Given the description of an element on the screen output the (x, y) to click on. 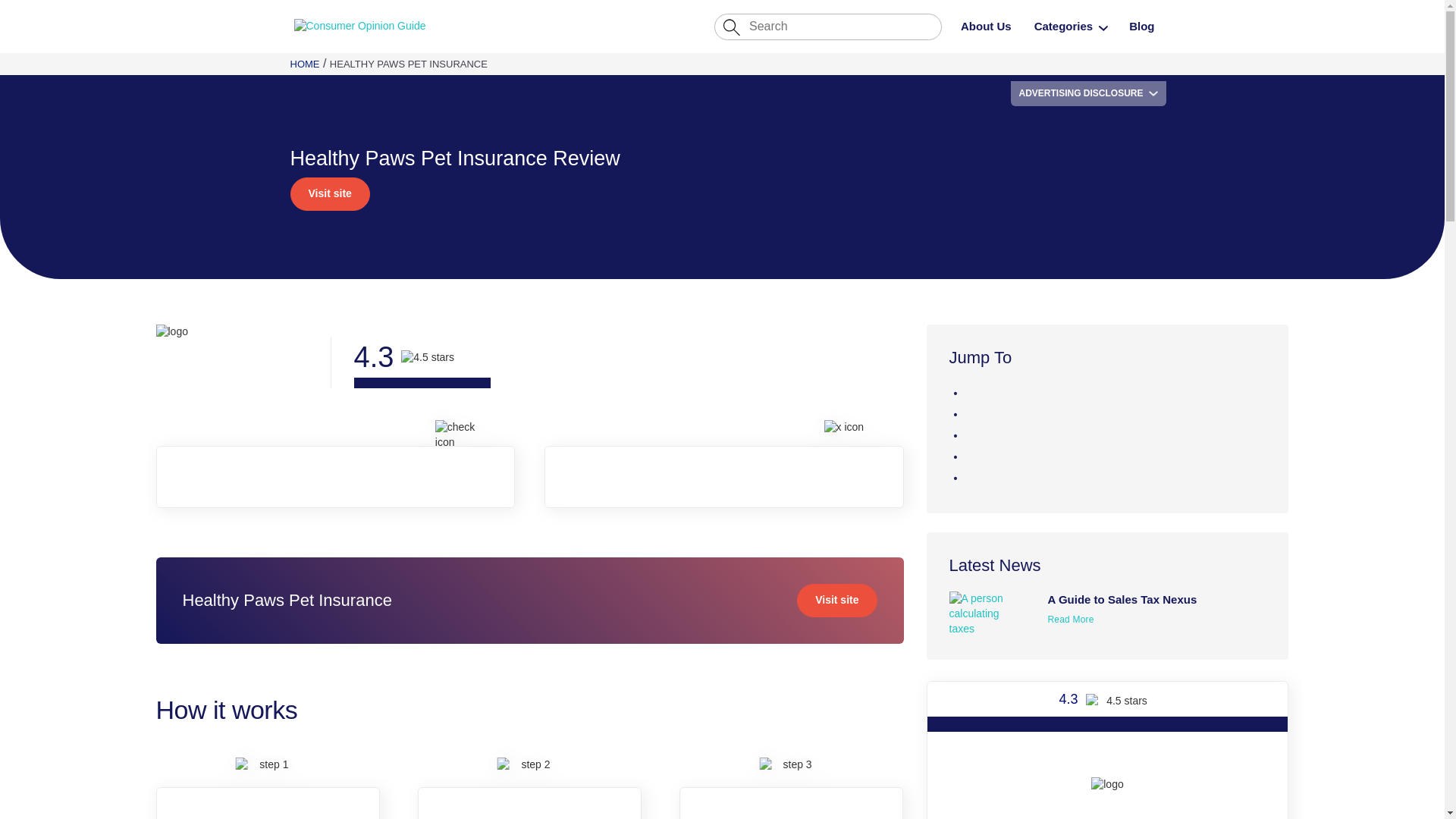
 A Guide to Sales Tax Nexus (1122, 607)
Categories (1063, 25)
About Us (985, 25)
A Guide to Sales Tax Nexus (992, 613)
HOME (303, 63)
Visit site (329, 193)
Go (443, 17)
